Given the description of an element on the screen output the (x, y) to click on. 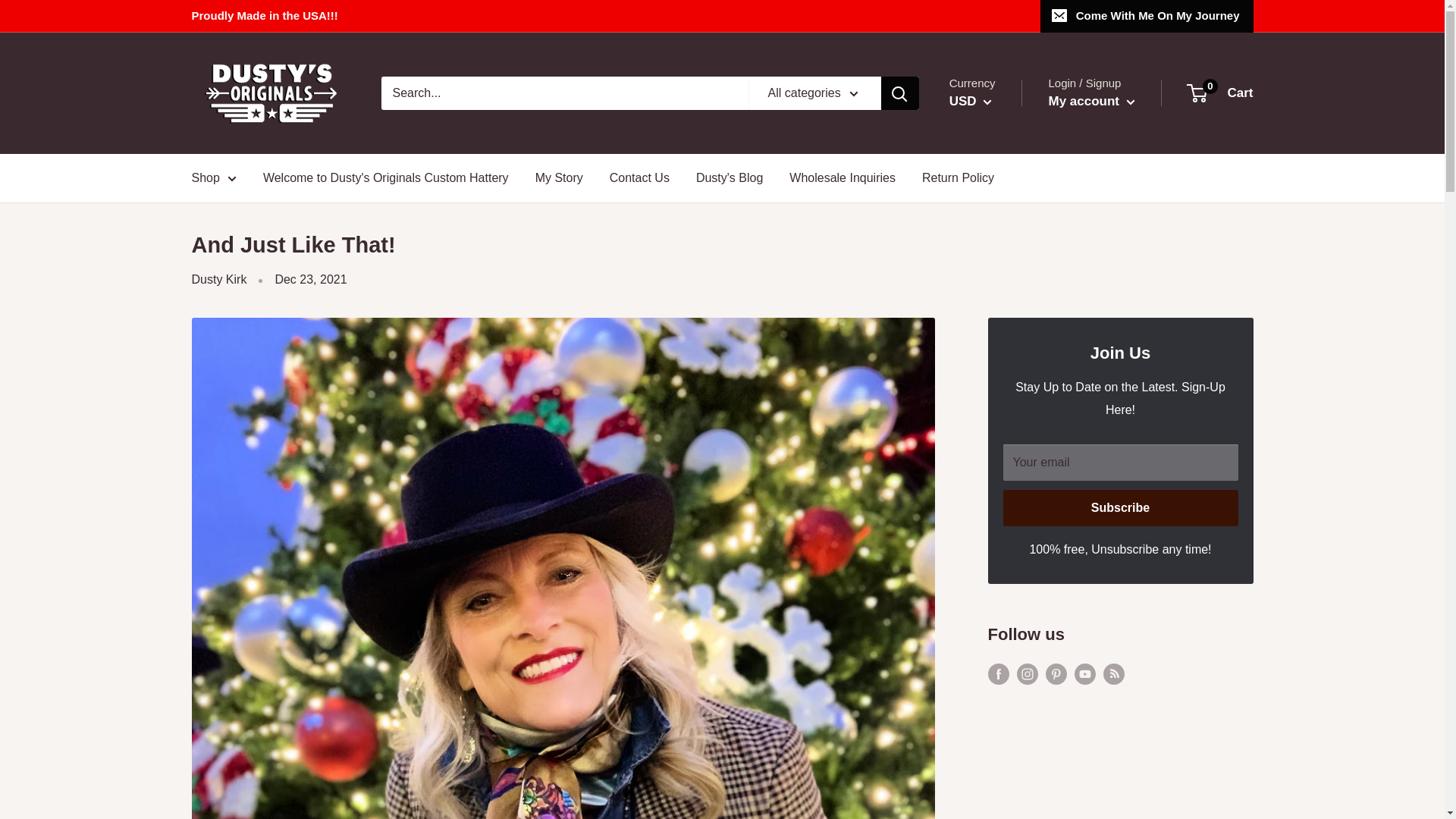
Come With Me On My Journey (1147, 15)
